Given the description of an element on the screen output the (x, y) to click on. 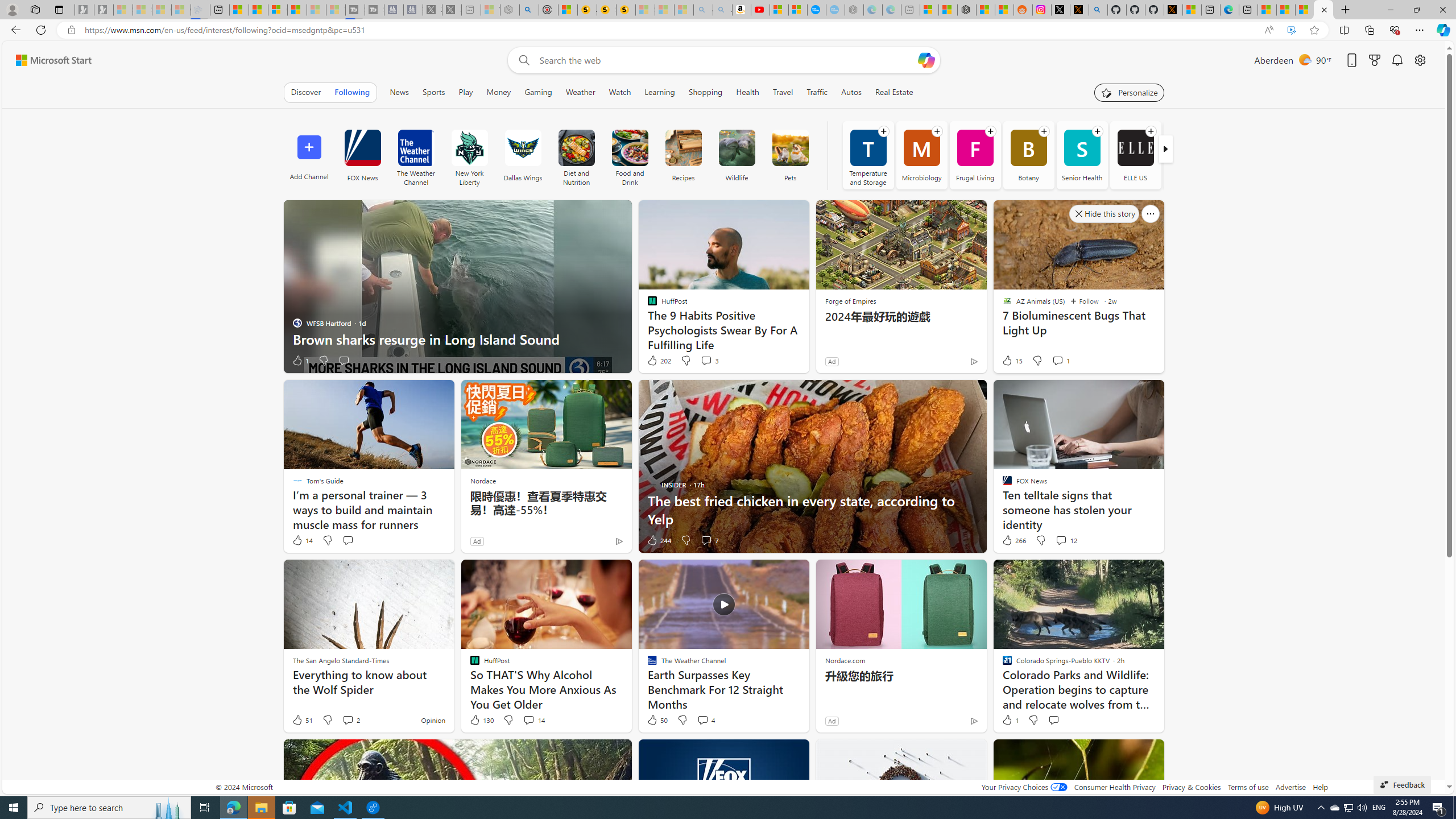
View comments 14 Comment (533, 719)
Add Channel (308, 155)
Michelle Starr, Senior Journalist at ScienceAlert (625, 9)
244 Like (658, 539)
Recipes (683, 147)
View comments 4 Comment (703, 719)
Newsletter Sign Up - Sleeping (102, 9)
Skip to footer (46, 59)
Diet and Nutrition (576, 155)
